Given the description of an element on the screen output the (x, y) to click on. 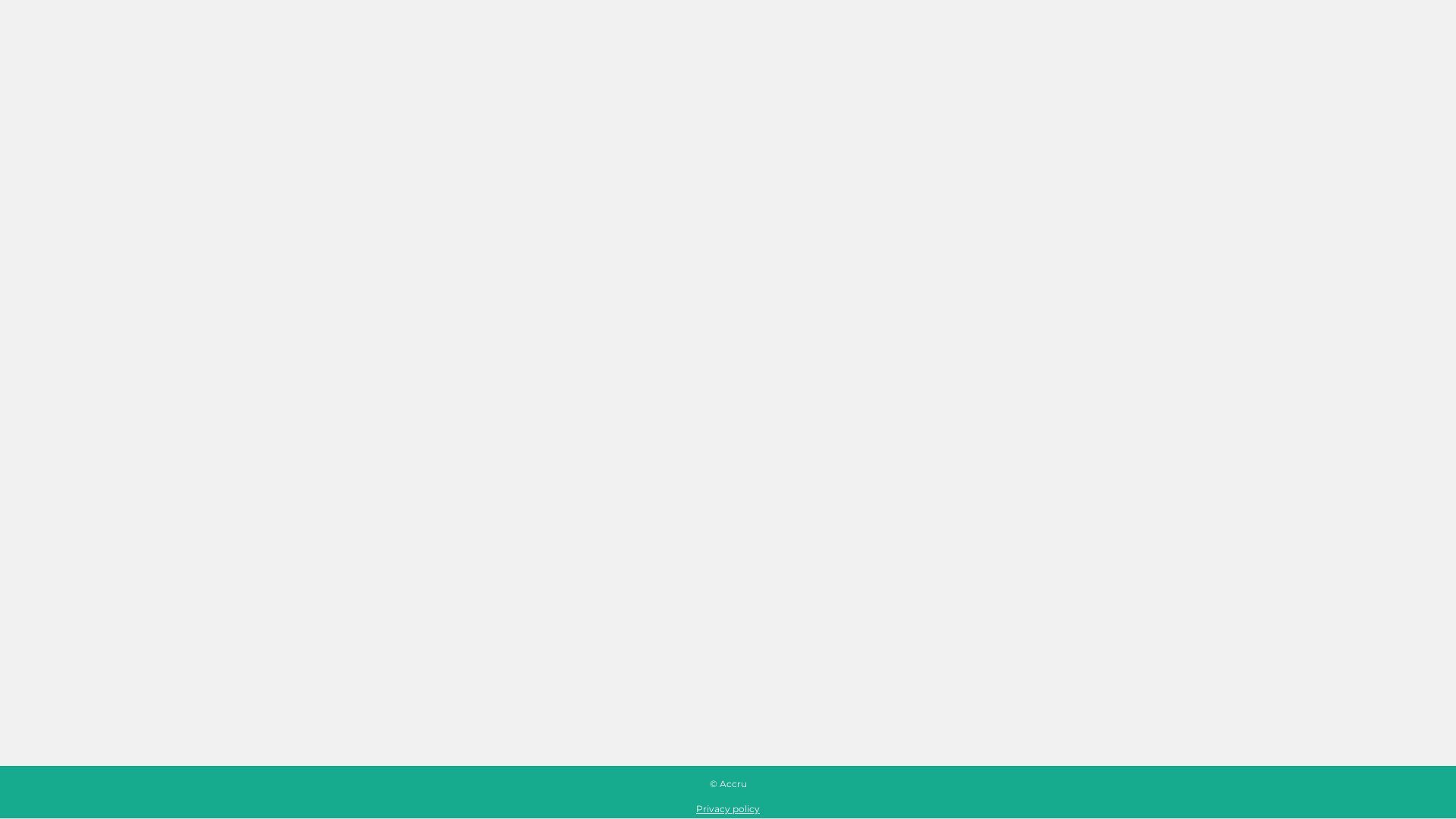
Privacy policy Element type: text (727, 808)
